Given the description of an element on the screen output the (x, y) to click on. 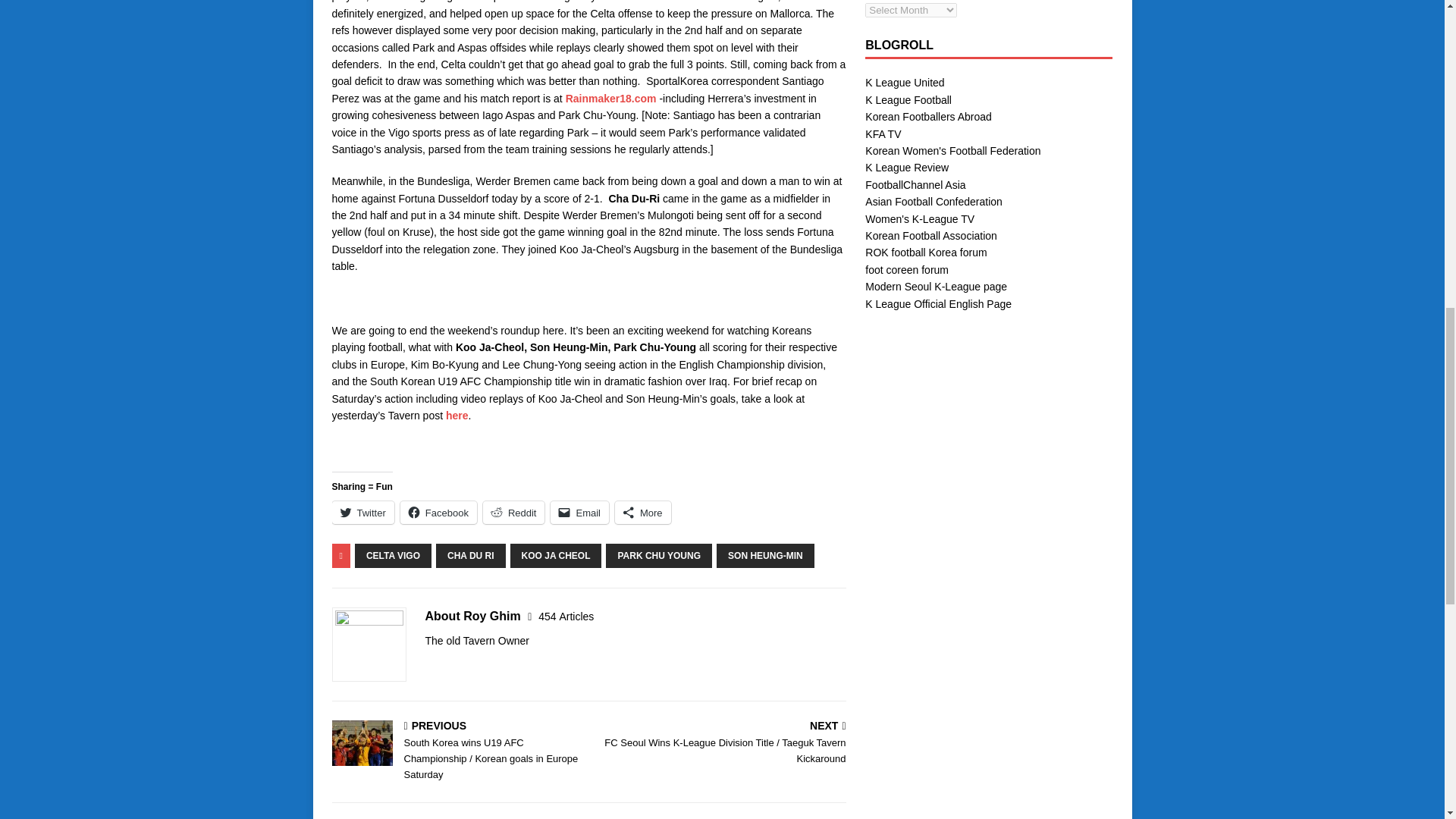
Click to email a link to a friend (579, 512)
Click to share on Twitter (362, 512)
Click to share on Facebook (438, 512)
Twitter (362, 512)
Reddit (513, 512)
Facebook (438, 512)
Park Chu-Young scores his 2nd goal of season (611, 98)
More articles written by Roy Ghim' (566, 616)
Rainmaker18.com (611, 98)
here (456, 415)
